Given the description of an element on the screen output the (x, y) to click on. 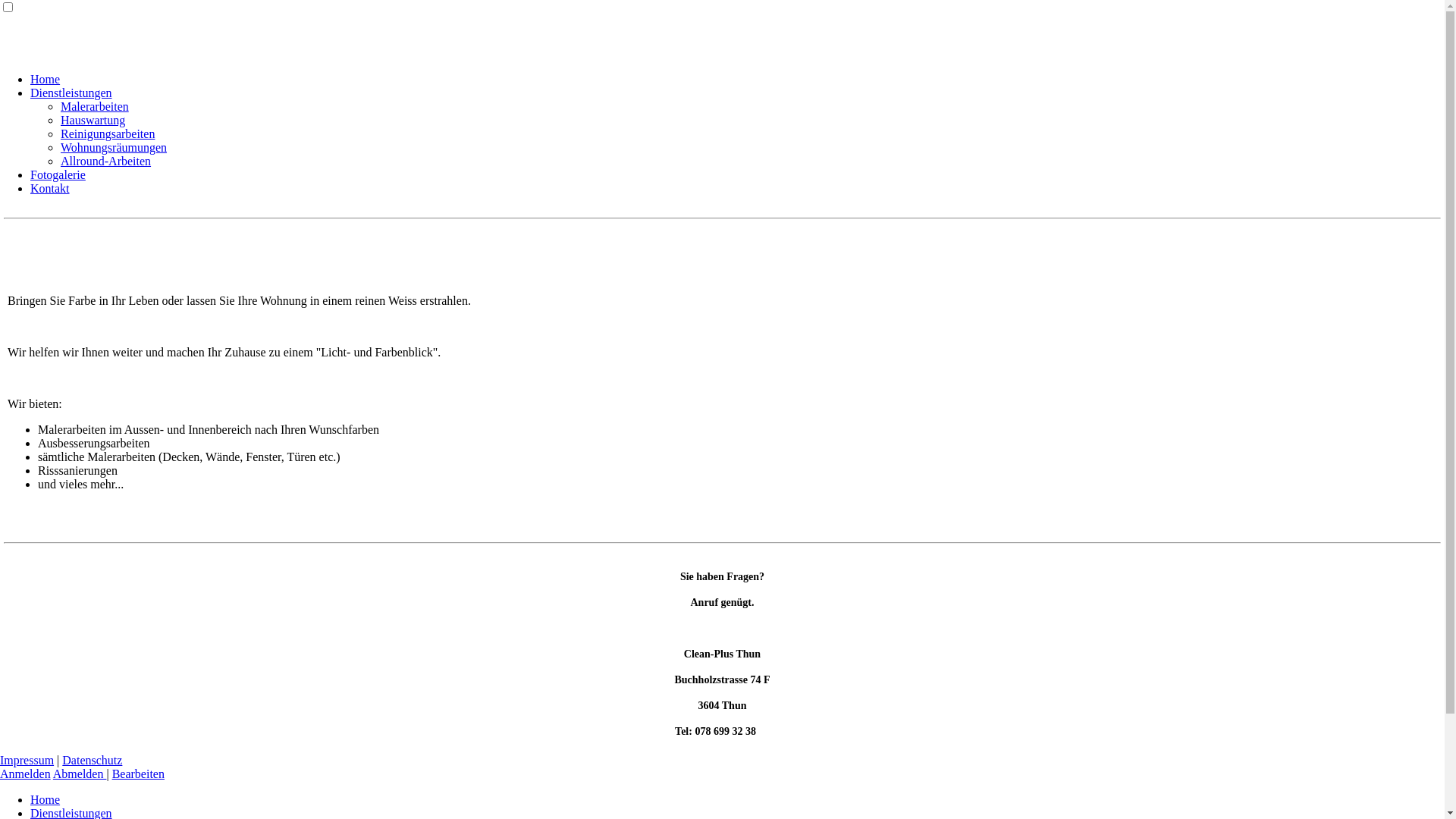
Hauswartung Element type: text (92, 119)
Reinigungsarbeiten Element type: text (107, 133)
Anmelden Element type: text (25, 773)
Kontakt Element type: text (49, 188)
Malerarbeiten Element type: text (94, 106)
Abmelden Element type: text (79, 773)
Home Element type: text (44, 799)
Bearbeiten Element type: text (138, 773)
Dienstleistungen Element type: text (71, 92)
Fotogalerie Element type: text (57, 174)
Home Element type: text (44, 78)
Impressum Element type: text (26, 759)
Allround-Arbeiten Element type: text (105, 160)
Datenschutz Element type: text (92, 759)
